Given the description of an element on the screen output the (x, y) to click on. 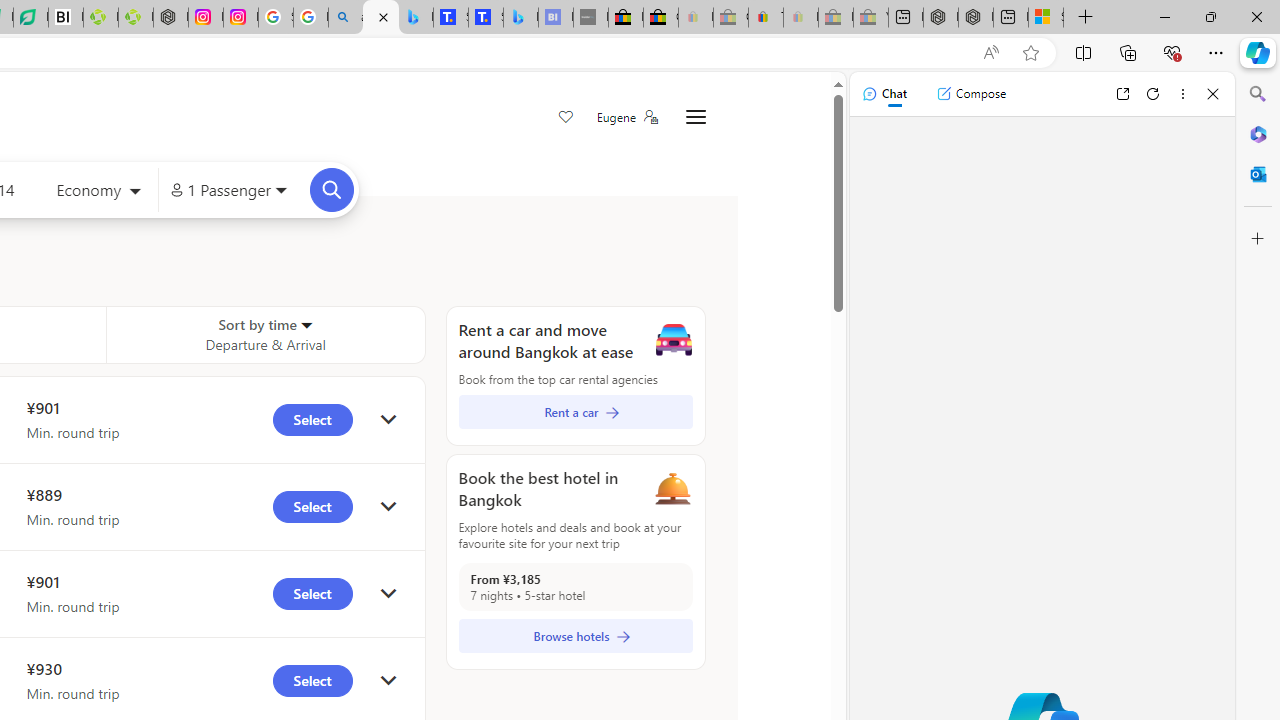
Rent a car (575, 412)
1 Passenger (228, 189)
Chat (884, 93)
Press Room - eBay Inc. - Sleeping (835, 17)
Save (565, 118)
Browse hotels (575, 636)
Safety in Our Products - Google Safety Center (275, 17)
Microsoft Bing Travel - Shangri-La Hotel Bangkok (520, 17)
